Given the description of an element on the screen output the (x, y) to click on. 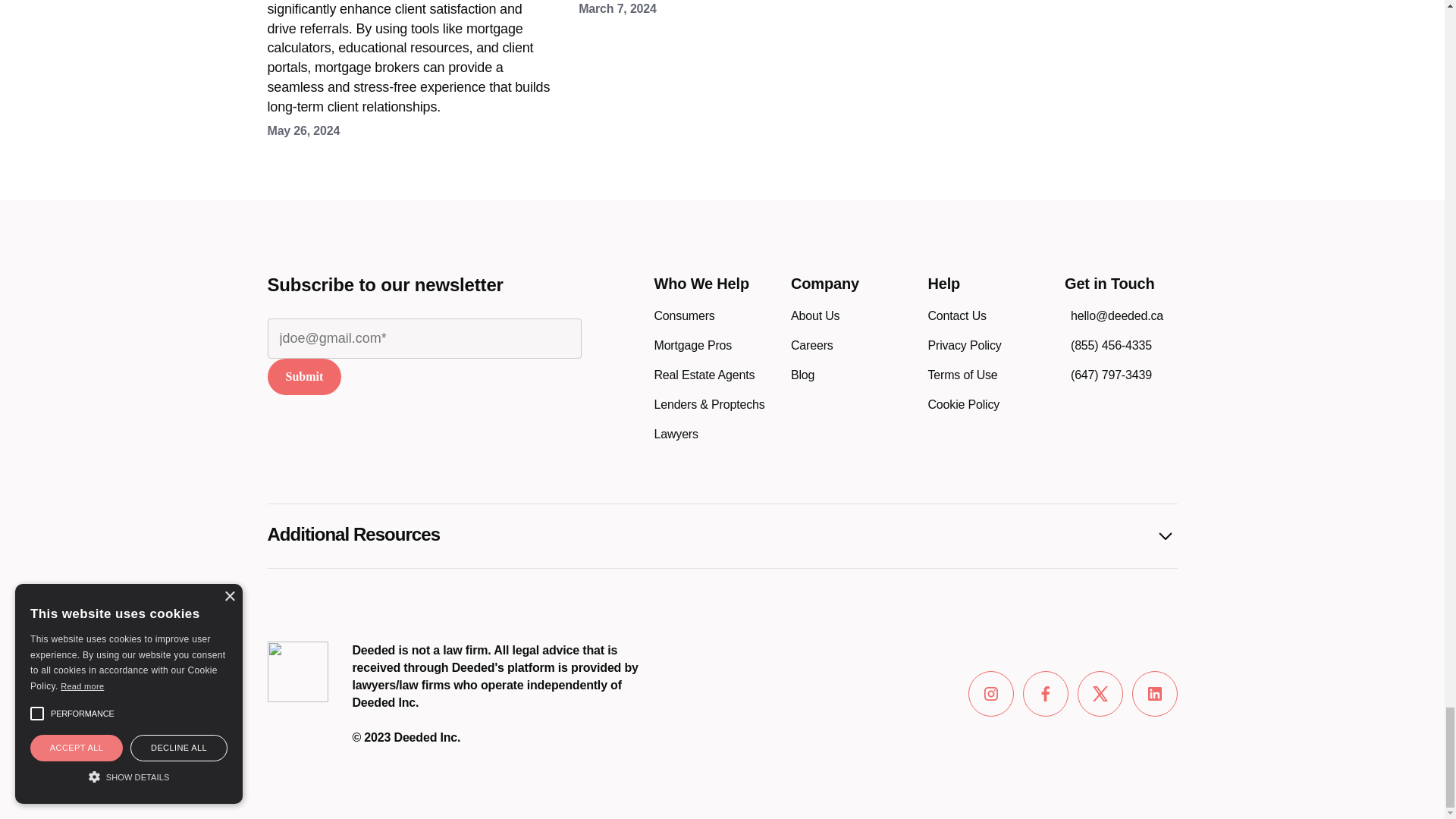
Real Estate Agents (703, 375)
Submit (303, 376)
Lawyers (675, 434)
Submit (303, 376)
Mortgage Pros (692, 344)
Careers (811, 344)
About Us (815, 315)
Consumers (683, 315)
